Given the description of an element on the screen output the (x, y) to click on. 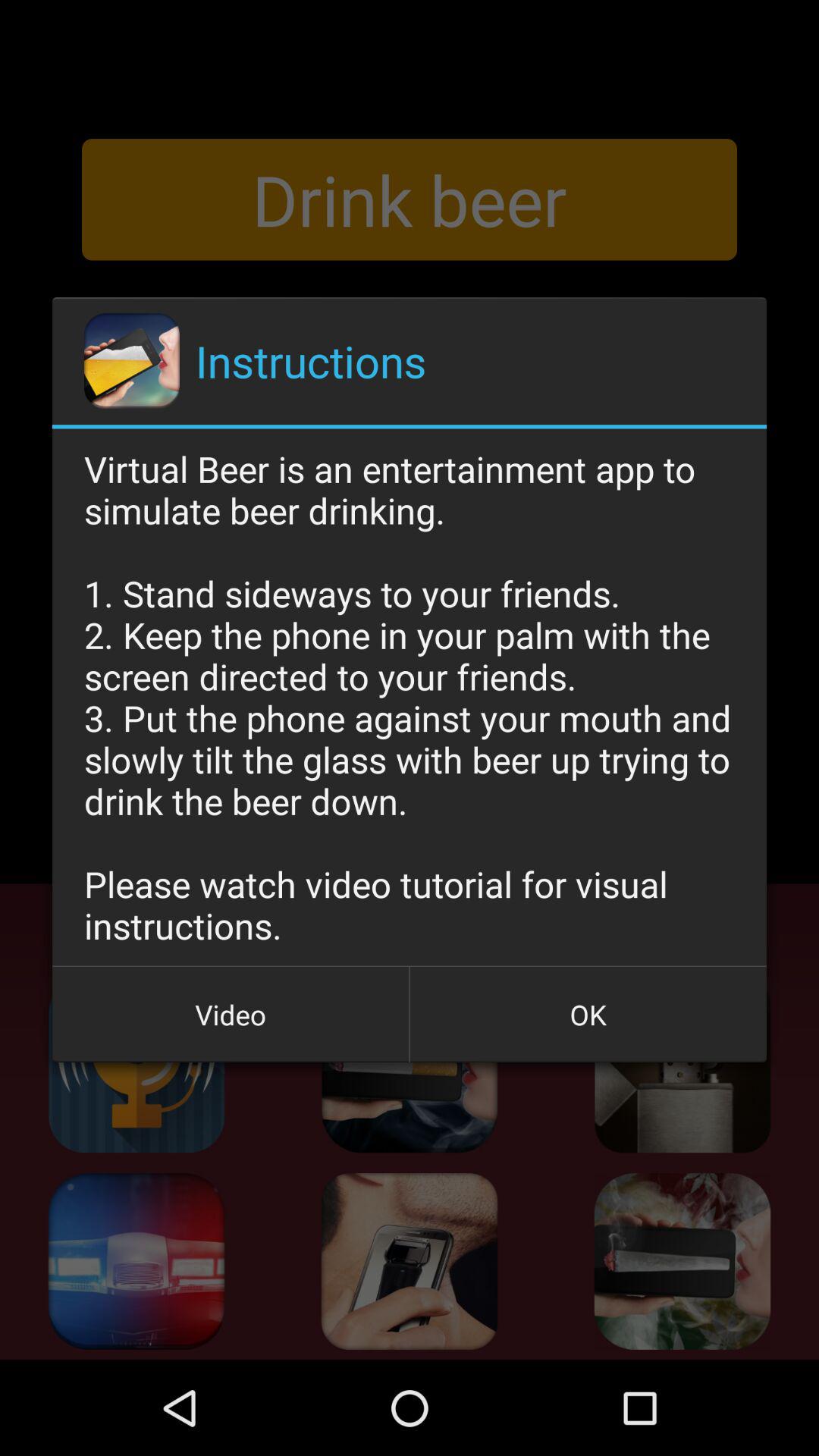
scroll until the ok item (588, 1014)
